Given the description of an element on the screen output the (x, y) to click on. 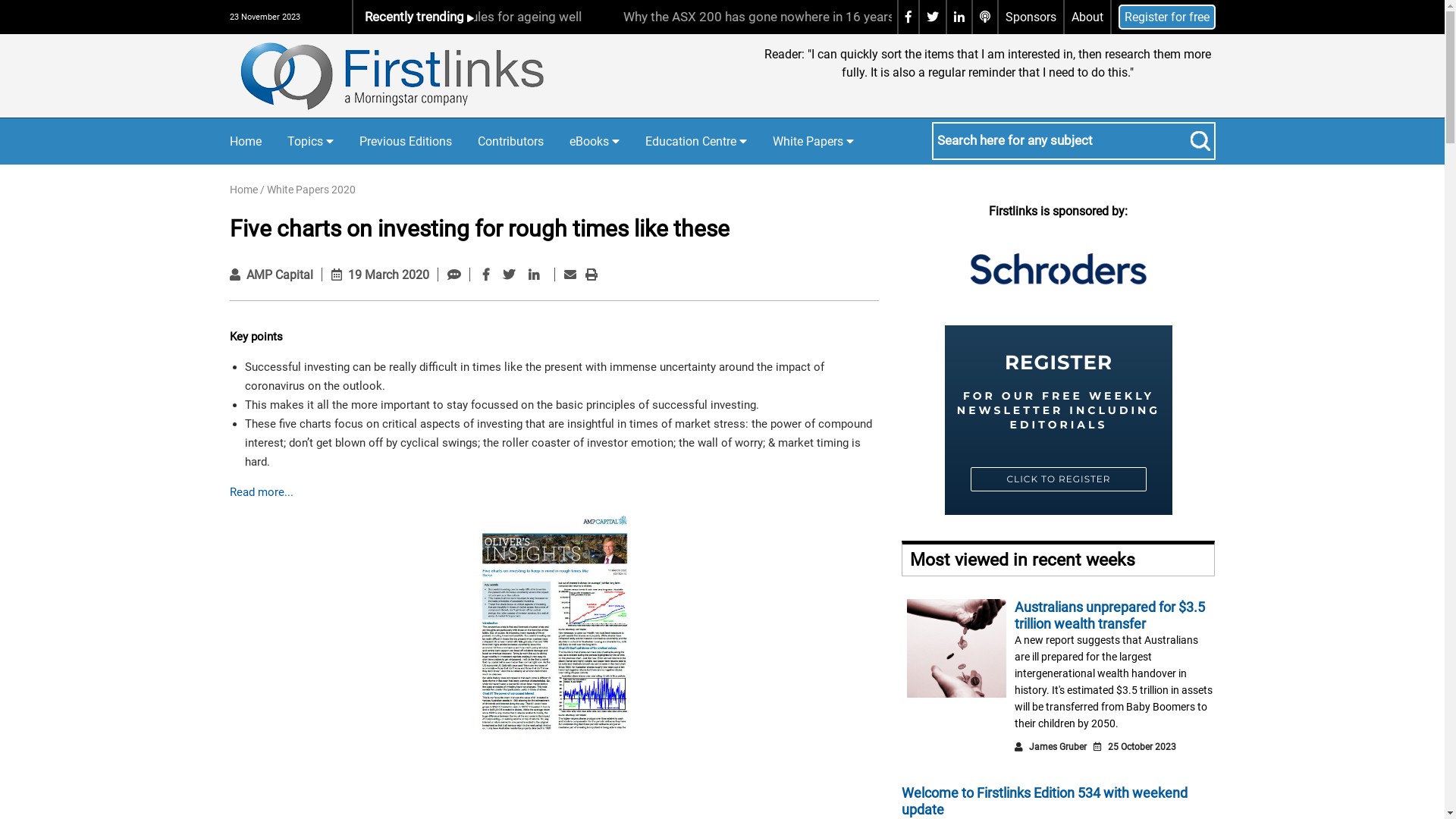
Twitter Element type: hover (508, 274)
Home Element type: text (243, 189)
eBooks Element type: text (593, 141)
18 rules for ageing well Element type: text (791, 17)
Register for free Element type: text (1165, 16)
Email Element type: hover (570, 274)
Topics Element type: text (309, 141)
Facebook Element type: hover (485, 274)
Education Centre Element type: text (695, 141)
About Element type: text (1086, 16)
Contributors Element type: text (510, 141)
The five best ways to prepare for your retirement Element type: text (544, 17)
LinkedIn Element type: hover (533, 274)
Welcome to Firstlinks Edition 534 with weekend update Element type: text (1044, 800)
Print Element type: hover (591, 274)
Home Element type: text (244, 141)
Sponsors Element type: text (1030, 16)
search Element type: text (1200, 140)
AMP Capital Element type: text (278, 274)
Why the ASX 200 has gone nowhere in 16 years Element type: text (1034, 17)
White Papers Element type: text (812, 141)
Read more... Element type: text (260, 491)
James Gruber Element type: text (1057, 746)
Australians unprepared for $3.5 trillion wealth transfer Element type: text (1109, 615)
Previous Editions Element type: text (405, 141)
  Element type: text (230, 803)
White Papers 2020 Element type: text (310, 189)
